Given the description of an element on the screen output the (x, y) to click on. 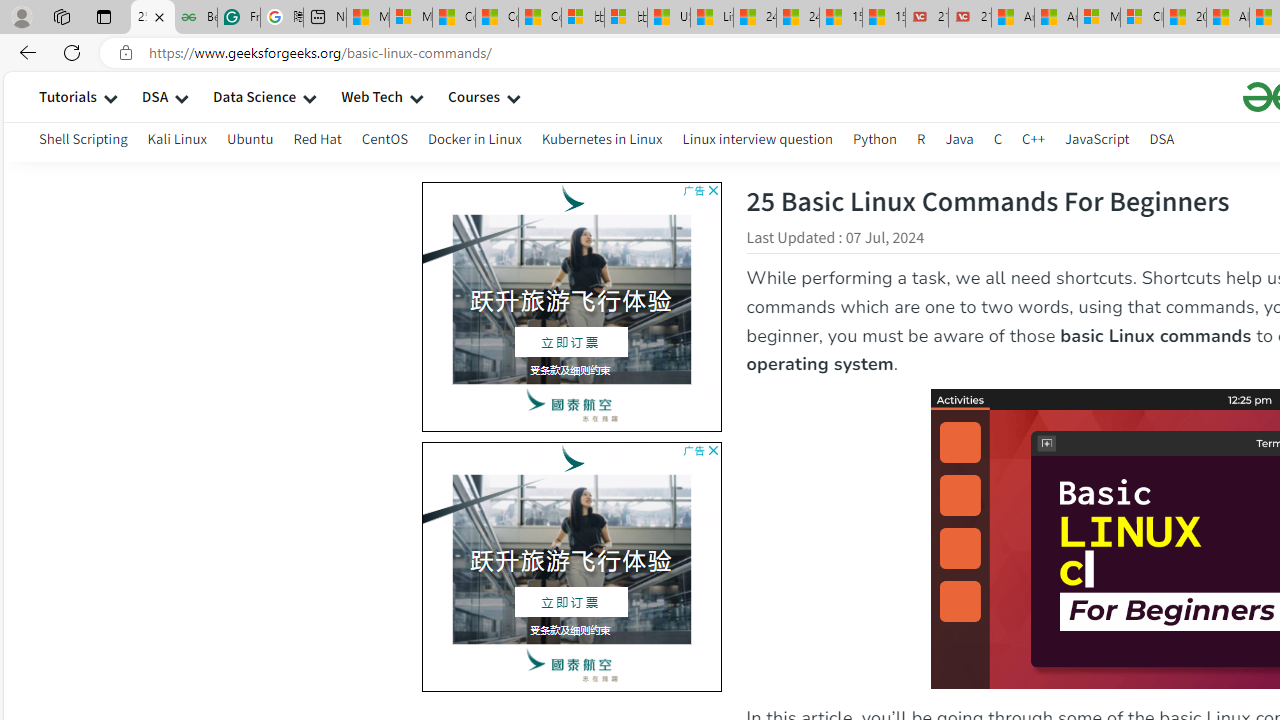
AutomationID: brandFlyLogo (572, 457)
Lifestyle - MSN (712, 17)
Kubernetes in Linux (602, 138)
R (921, 142)
AutomationID: bg2 (274, 561)
Shell Scripting (83, 138)
Python (874, 142)
JavaScript (1097, 142)
Linux interview question (757, 142)
Kubernetes in Linux (602, 142)
Web Tech (372, 96)
C++ (1034, 138)
